Given the description of an element on the screen output the (x, y) to click on. 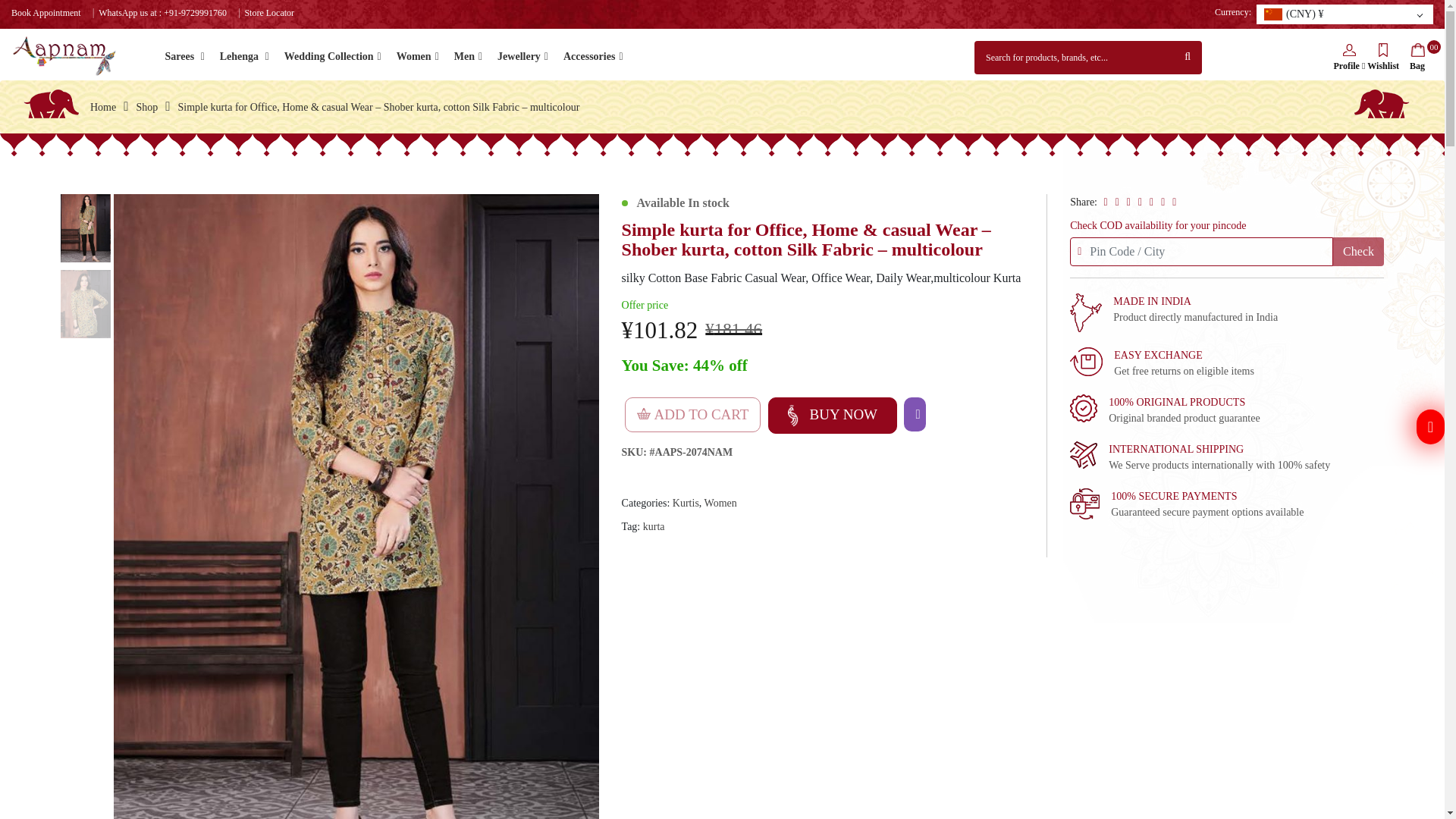
Book Appointment (46, 12)
Store Locator (269, 12)
